Given the description of an element on the screen output the (x, y) to click on. 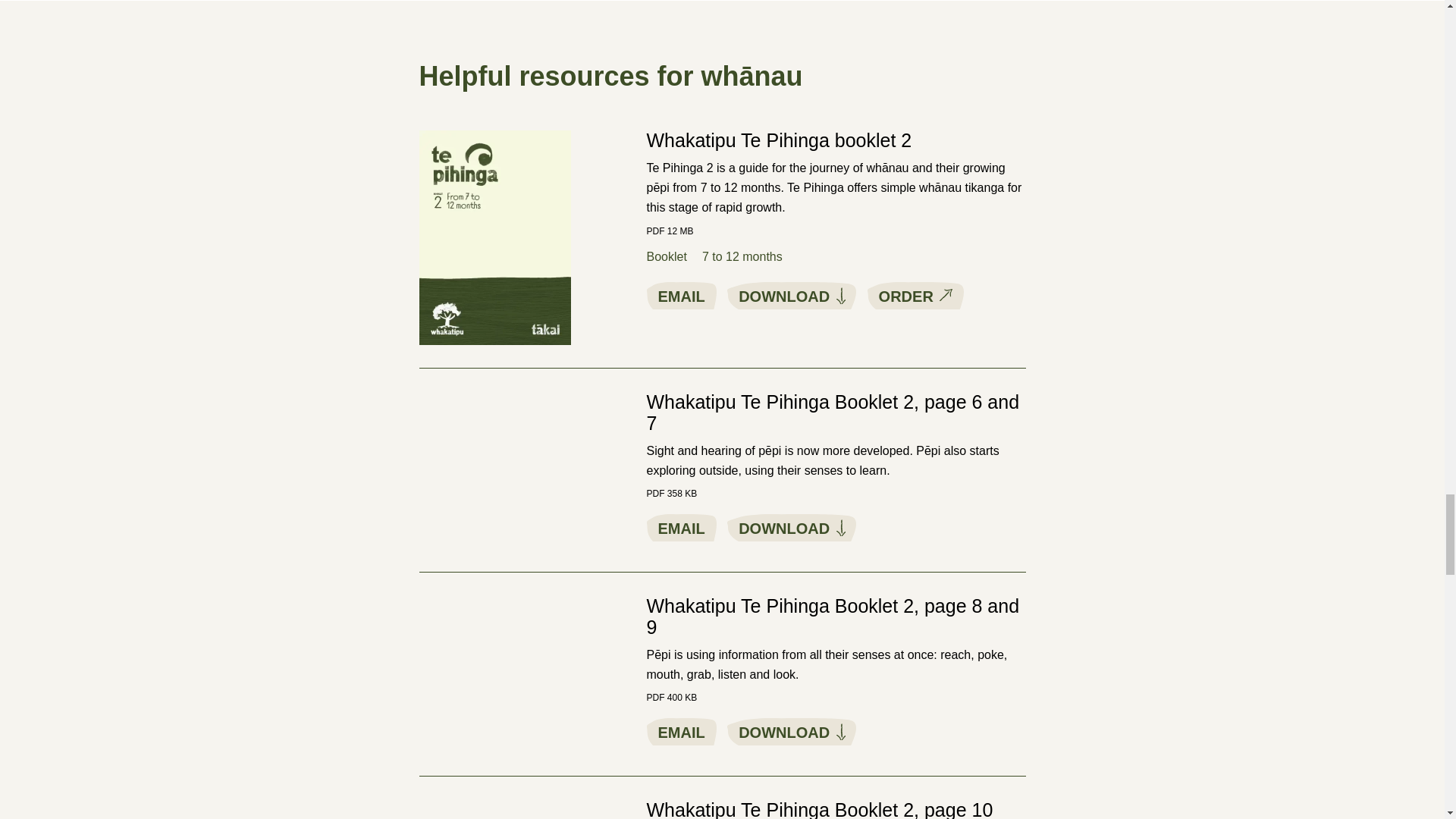
DOWNLOAD (791, 295)
EMAIL (681, 295)
